Given the description of an element on the screen output the (x, y) to click on. 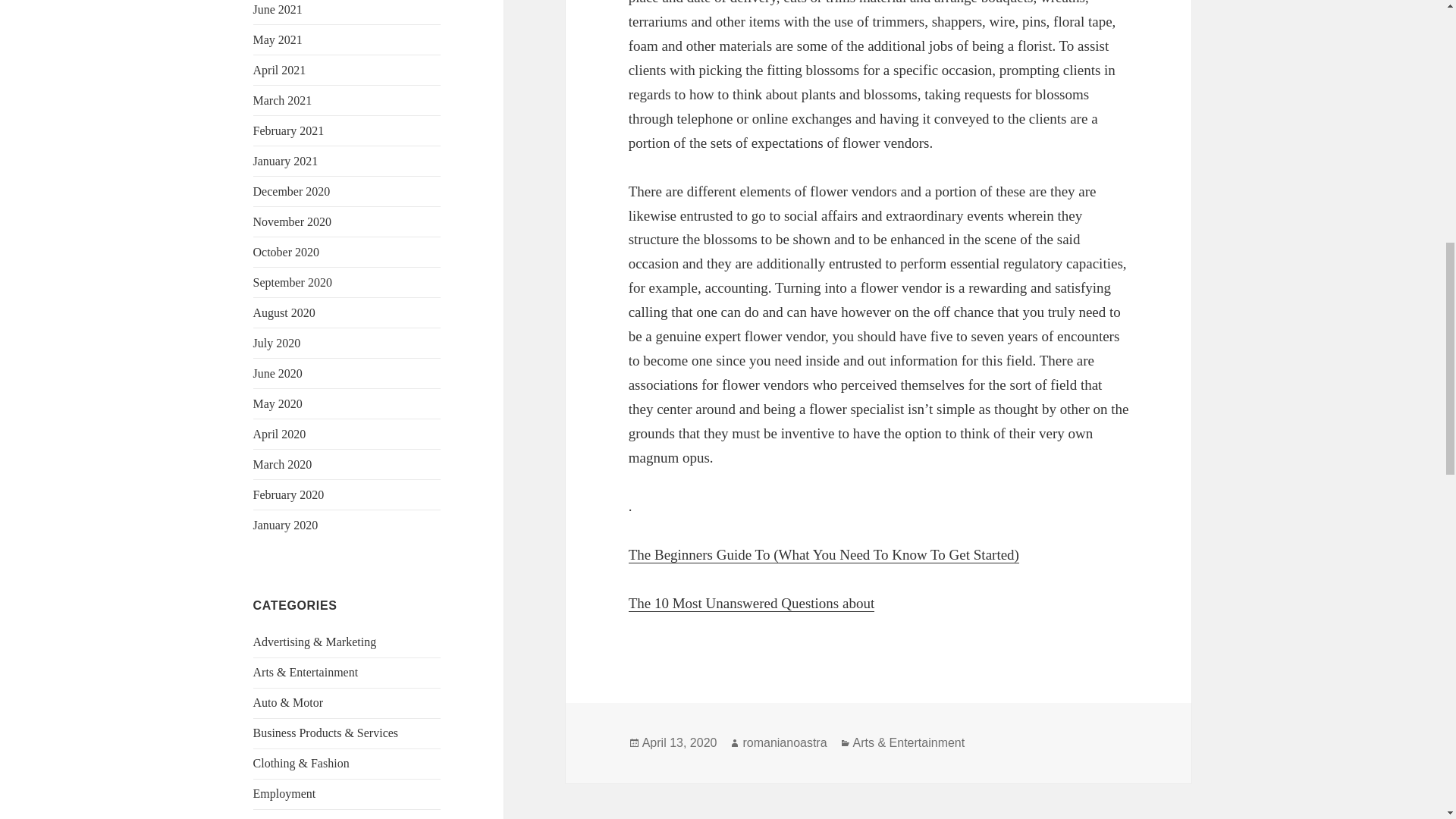
April 2020 (279, 433)
June 2020 (277, 373)
October 2020 (286, 251)
June 2021 (277, 9)
May 2020 (277, 403)
July 2020 (277, 342)
April 2021 (279, 69)
March 2021 (283, 100)
December 2020 (291, 191)
November 2020 (292, 221)
August 2020 (284, 312)
May 2021 (277, 39)
February 2021 (288, 130)
January 2021 (285, 160)
January 2020 (285, 524)
